Given the description of an element on the screen output the (x, y) to click on. 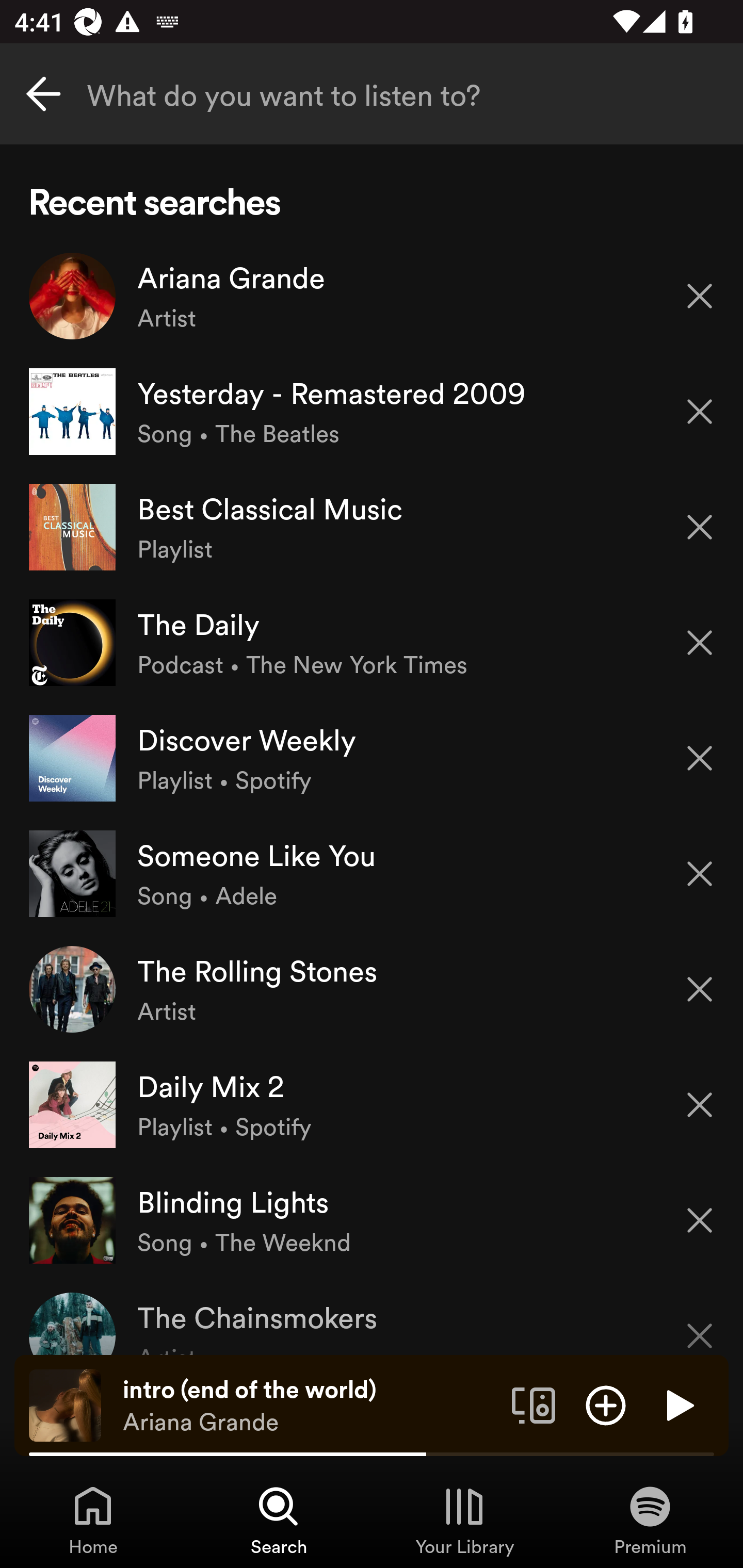
What do you want to listen to? (371, 93)
Cancel (43, 93)
Ariana Grande Artist Remove (371, 296)
Remove (699, 295)
Remove (699, 411)
Best Classical Music Playlist Remove (371, 526)
Remove (699, 527)
The Daily Podcast • The New York Times Remove (371, 642)
Remove (699, 642)
Discover Weekly Playlist • Spotify Remove (371, 757)
Remove (699, 758)
Someone Like You Song • Adele Remove (371, 873)
Remove (699, 874)
The Rolling Stones Artist Remove (371, 989)
Remove (699, 989)
Daily Mix 2 Playlist • Spotify Remove (371, 1104)
Remove (699, 1104)
Blinding Lights Song • The Weeknd Remove (371, 1219)
Remove (699, 1220)
The Chainsmokers Artist Remove (371, 1315)
Remove (699, 1323)
intro (end of the world) Ariana Grande (309, 1405)
The cover art of the currently playing track (64, 1404)
Connect to a device. Opens the devices menu (533, 1404)
Add item (605, 1404)
Play (677, 1404)
Home, Tab 1 of 4 Home Home (92, 1519)
Search, Tab 2 of 4 Search Search (278, 1519)
Your Library, Tab 3 of 4 Your Library Your Library (464, 1519)
Premium, Tab 4 of 4 Premium Premium (650, 1519)
